Given the description of an element on the screen output the (x, y) to click on. 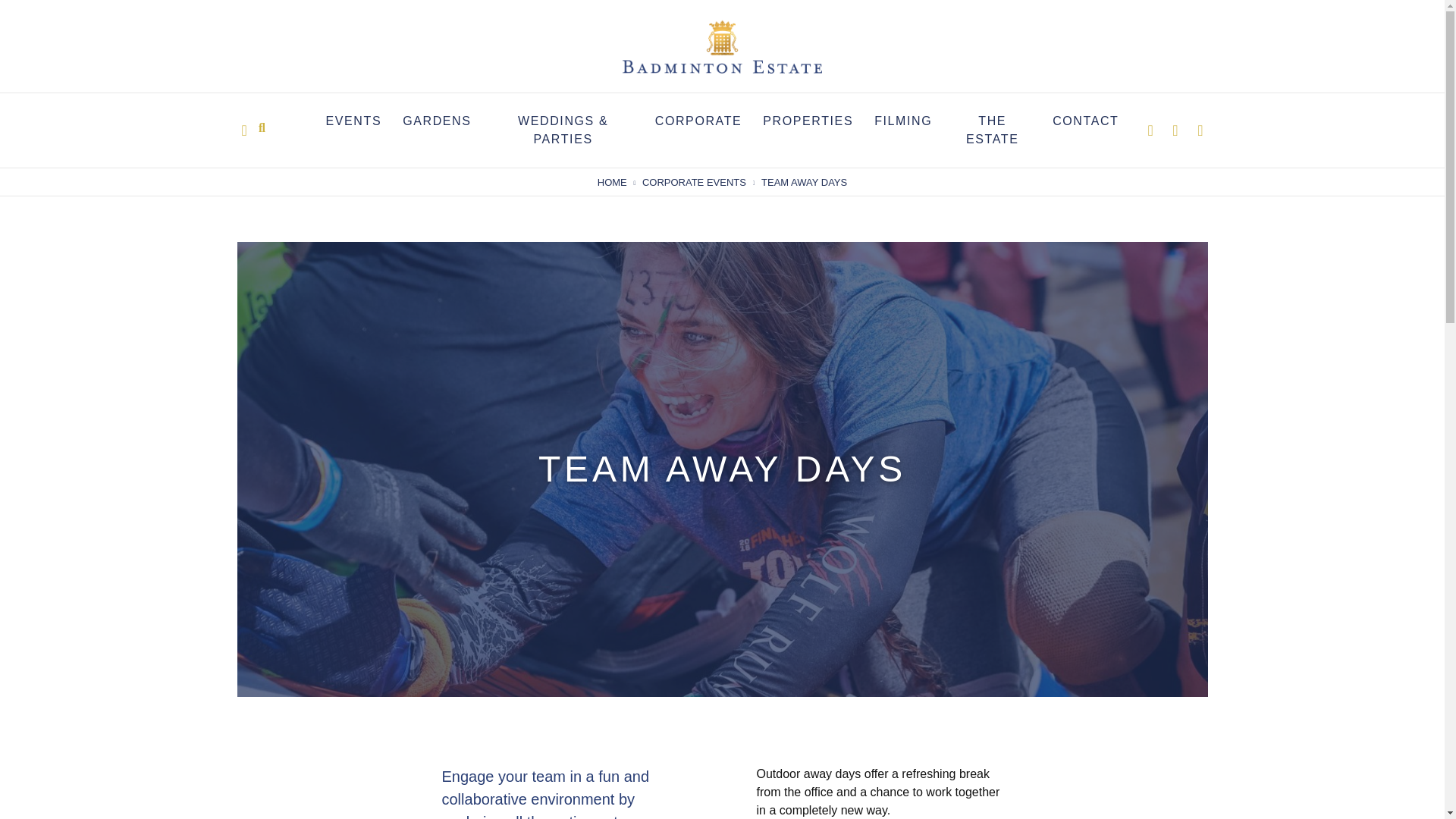
Go to Home. (611, 182)
GARDENS (436, 121)
THE ESTATE (991, 130)
SEARCH (261, 126)
EVENTS (353, 121)
Go to Corporate Events. (693, 182)
CORPORATE (698, 121)
PROPERTIES (807, 121)
FILMING (903, 121)
